Given the description of an element on the screen output the (x, y) to click on. 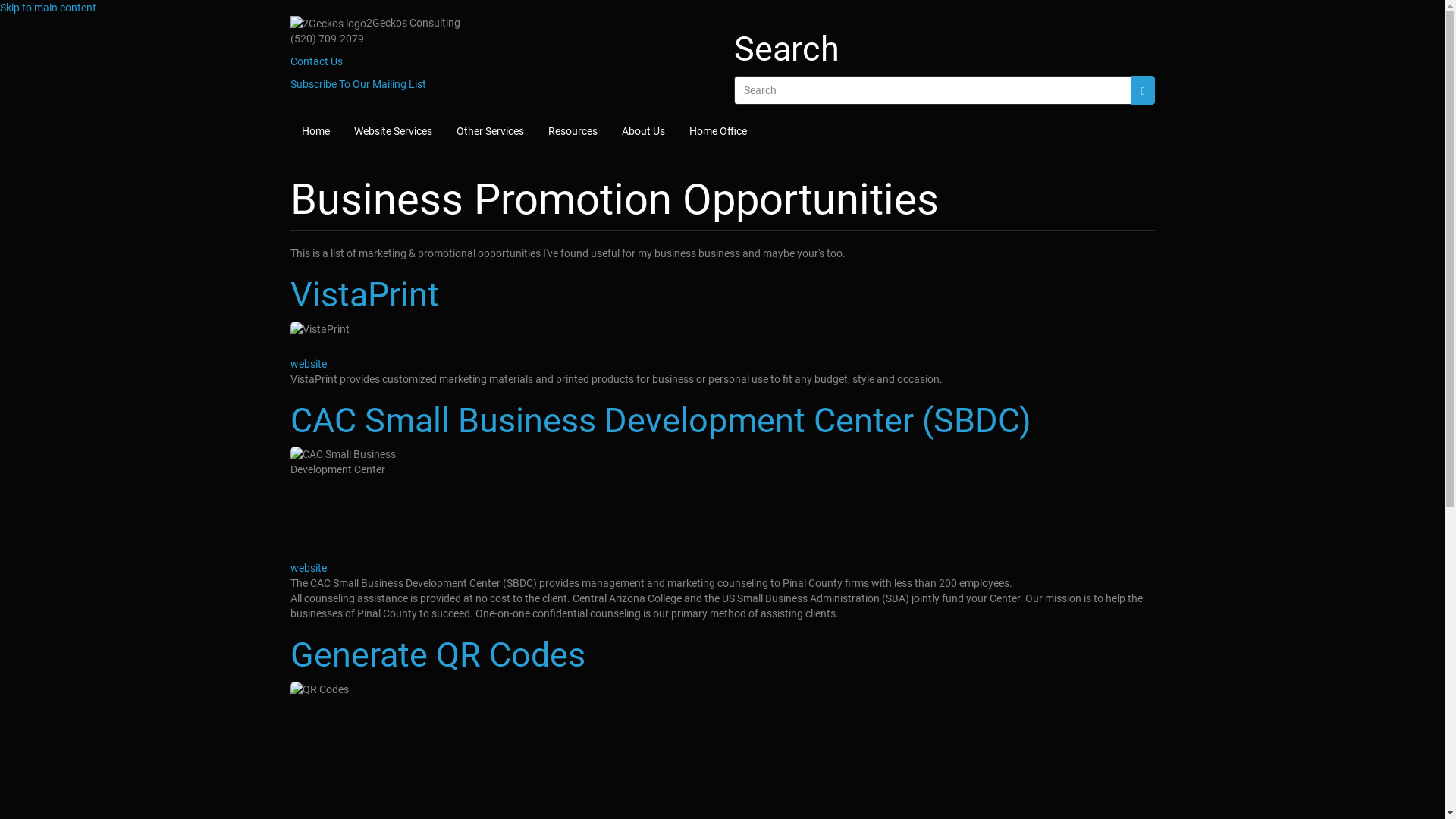
website Element type: text (307, 363)
Other Services Element type: text (489, 130)
Search Element type: text (1142, 89)
CAC Small Business Development Center  Element type: hover (372, 503)
Website Services Element type: text (392, 130)
Resources Element type: text (572, 130)
Home Element type: text (314, 130)
Generate QR Codes Element type: text (721, 655)
Skip to main content Element type: text (48, 7)
About Us Element type: text (642, 130)
CAC Small Business Development Center (SBDC) Element type: text (721, 420)
VistaPrint Element type: hover (372, 338)
Enter the terms you wish to search for. Element type: hover (933, 89)
VistaPrint Element type: text (721, 294)
Contact Us Element type: text (315, 61)
Home Office Element type: text (717, 130)
Subscribe To Our Mailing List Element type: text (357, 84)
website Element type: text (307, 567)
